Given the description of an element on the screen output the (x, y) to click on. 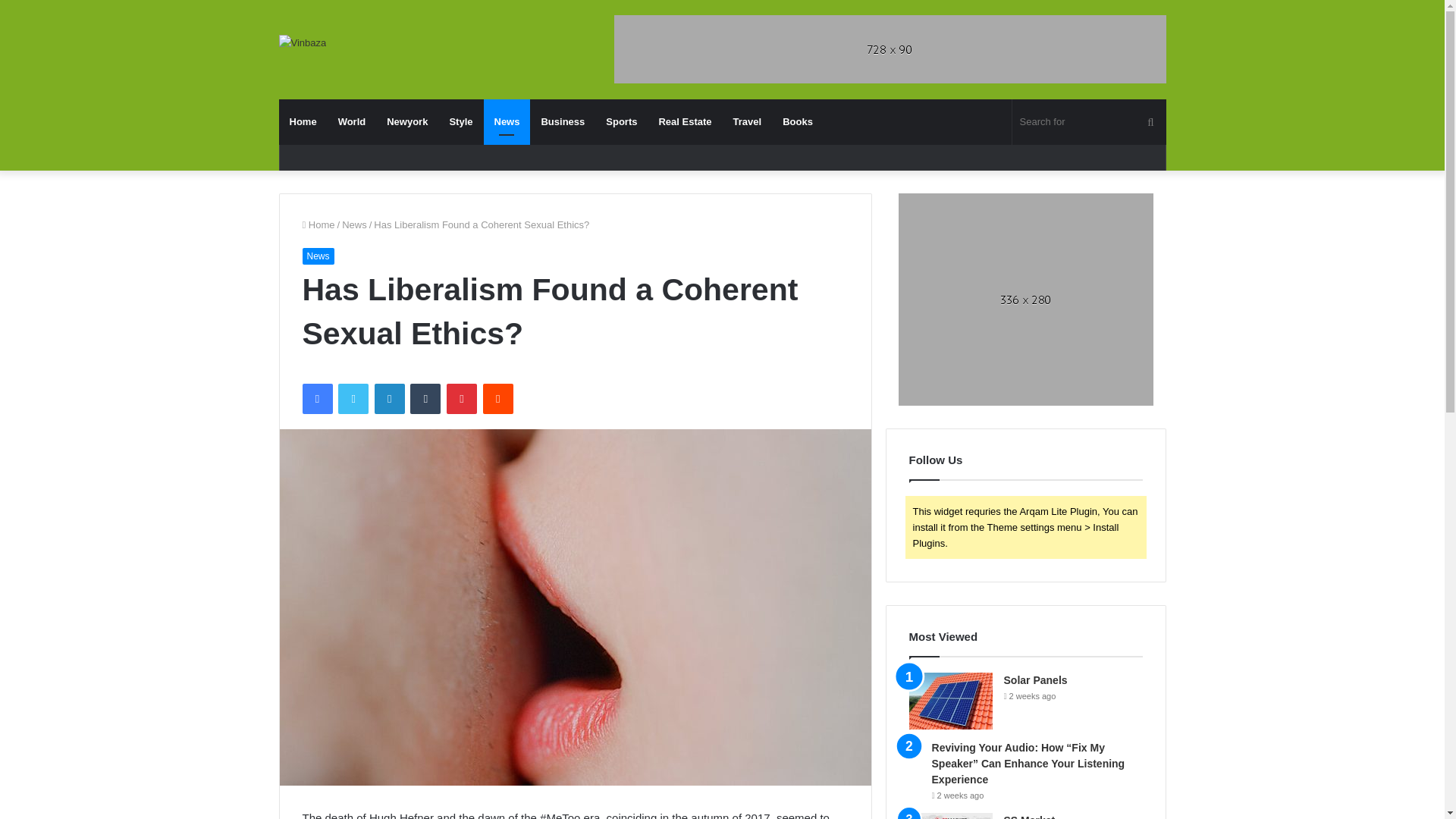
Home (317, 224)
Style (460, 121)
Pinterest (461, 399)
Pinterest (461, 399)
Books (797, 121)
LinkedIn (389, 399)
Real Estate (684, 121)
Tumblr (425, 399)
World (352, 121)
Travel (747, 121)
Search for (1088, 121)
Vinbaza (302, 42)
Twitter (352, 399)
Home (303, 121)
Tumblr (425, 399)
